Given the description of an element on the screen output the (x, y) to click on. 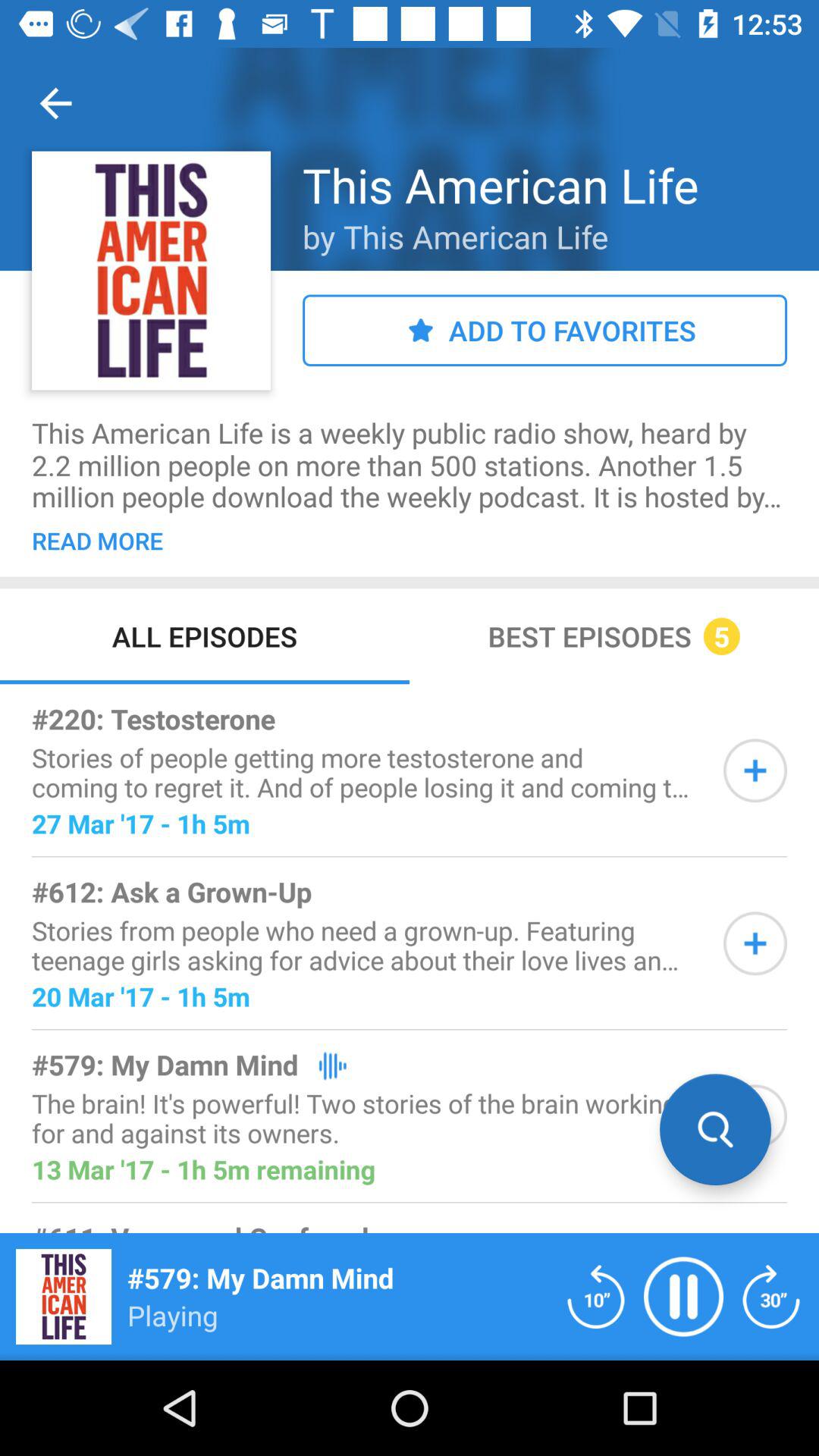
to add information (755, 943)
